Given the description of an element on the screen output the (x, y) to click on. 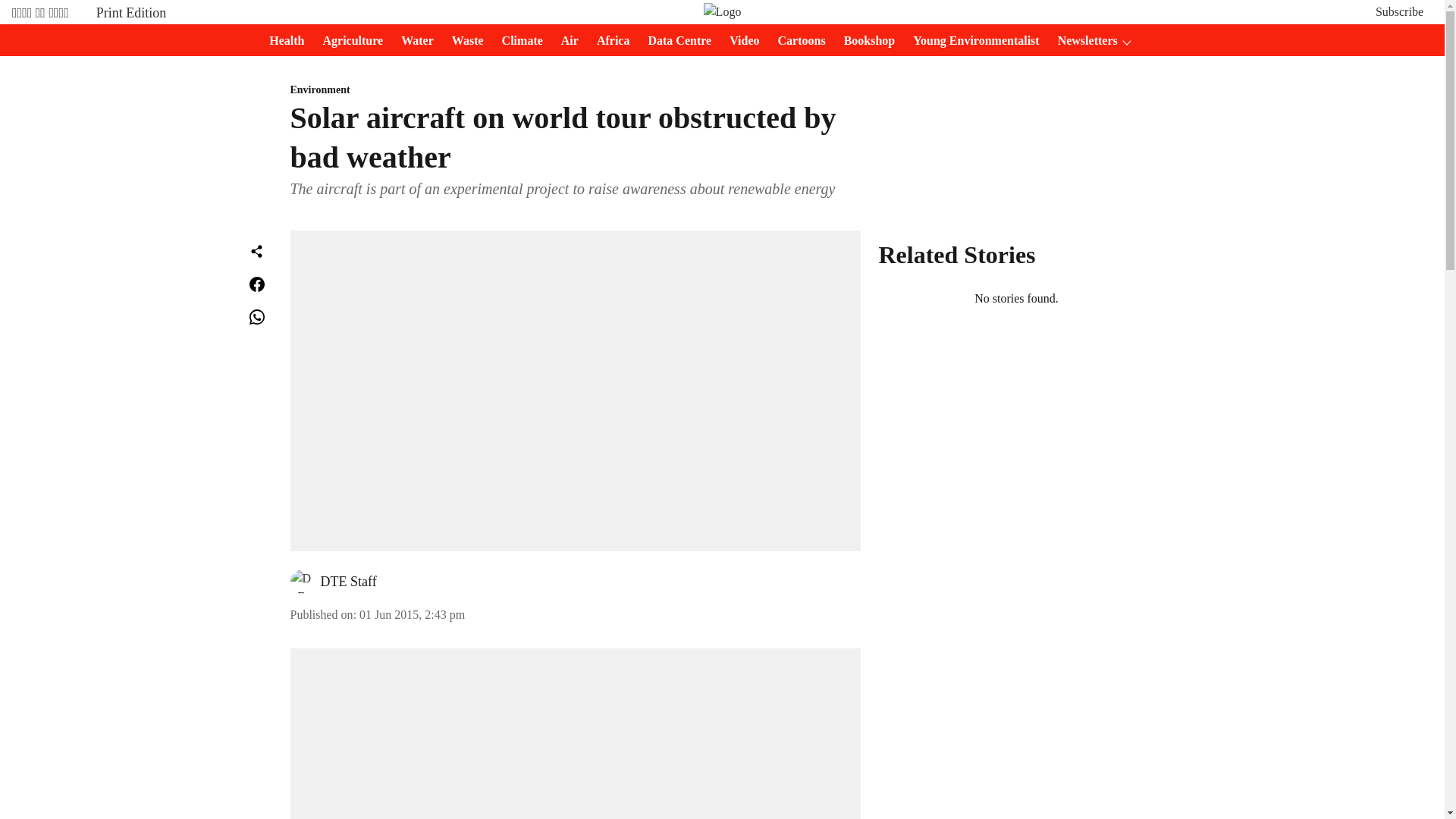
2015-06-01 14:43 (411, 614)
DTE Staff (347, 581)
Agriculture (347, 40)
Climate (518, 40)
Waste (462, 40)
Environment (574, 90)
Bookshop (864, 40)
Print Edition (131, 12)
Young Environmentalist (971, 40)
Africa (609, 40)
Water (412, 40)
Data Centre (675, 40)
Cartoons (796, 40)
Health (282, 40)
Video (739, 40)
